Given the description of an element on the screen output the (x, y) to click on. 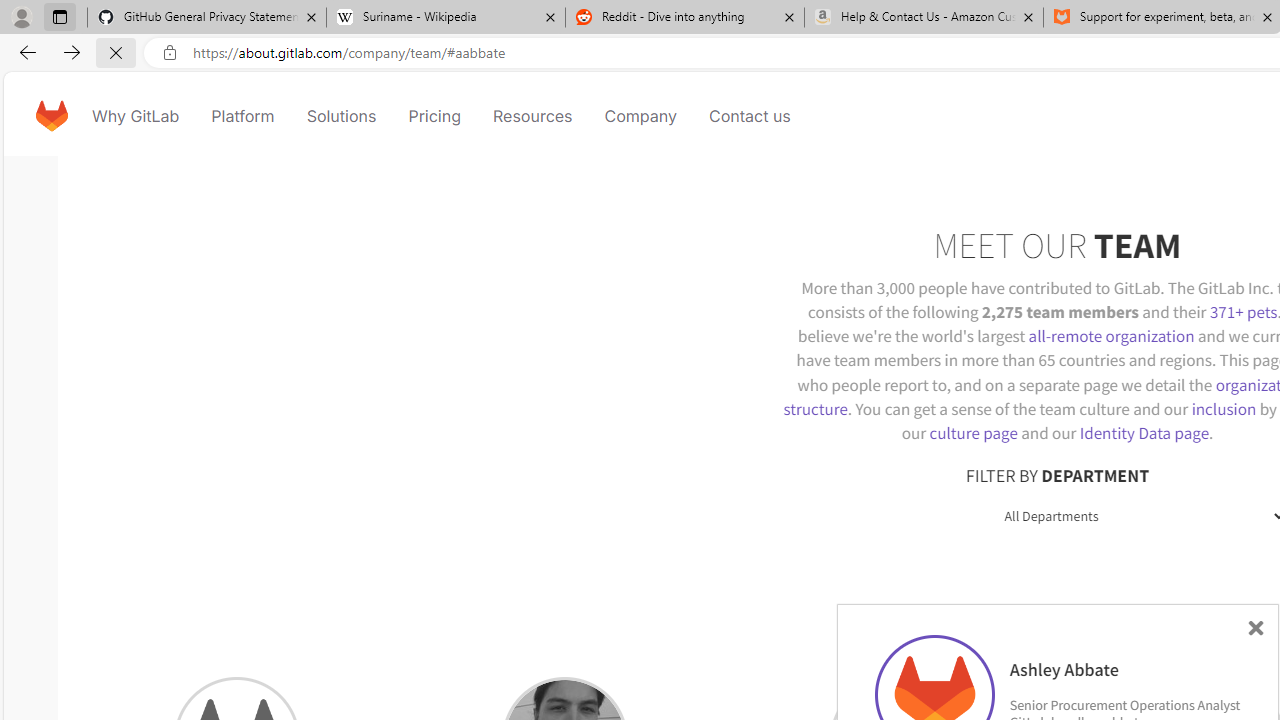
GitHub General Privacy Statement - GitHub Docs (207, 17)
all-remote organization (1111, 335)
Company (640, 115)
inclusion (1223, 408)
